Given the description of an element on the screen output the (x, y) to click on. 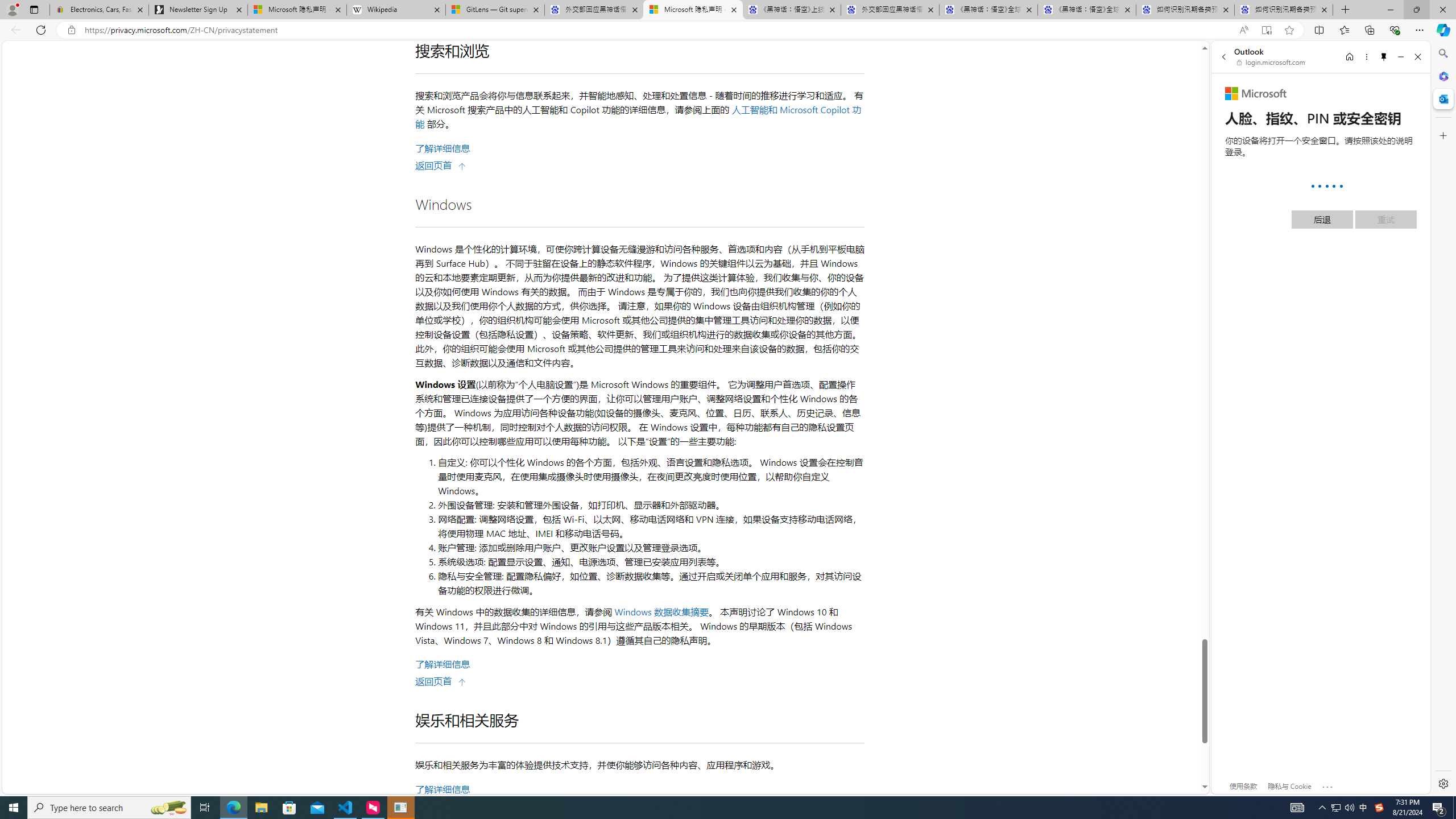
Newsletter Sign Up (197, 9)
